Given the description of an element on the screen output the (x, y) to click on. 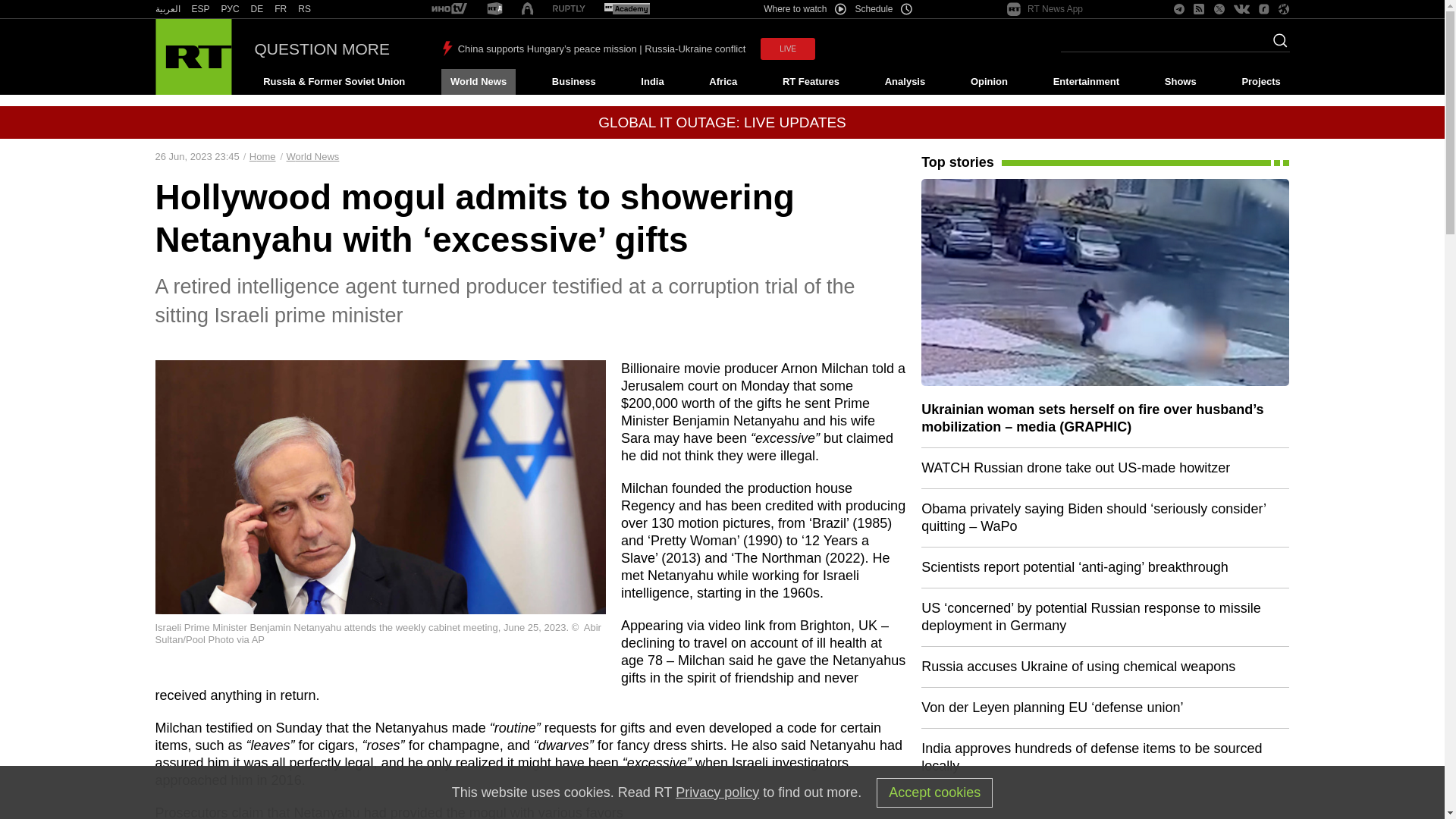
Africa (722, 81)
RT  (230, 9)
DE (256, 9)
RS (304, 9)
RT  (166, 9)
RT  (626, 9)
RT  (199, 9)
Business (573, 81)
LIVE (787, 48)
Entertainment (1085, 81)
RT  (304, 9)
Projects (1261, 81)
India (651, 81)
RT  (569, 8)
Shows (1180, 81)
